Given the description of an element on the screen output the (x, y) to click on. 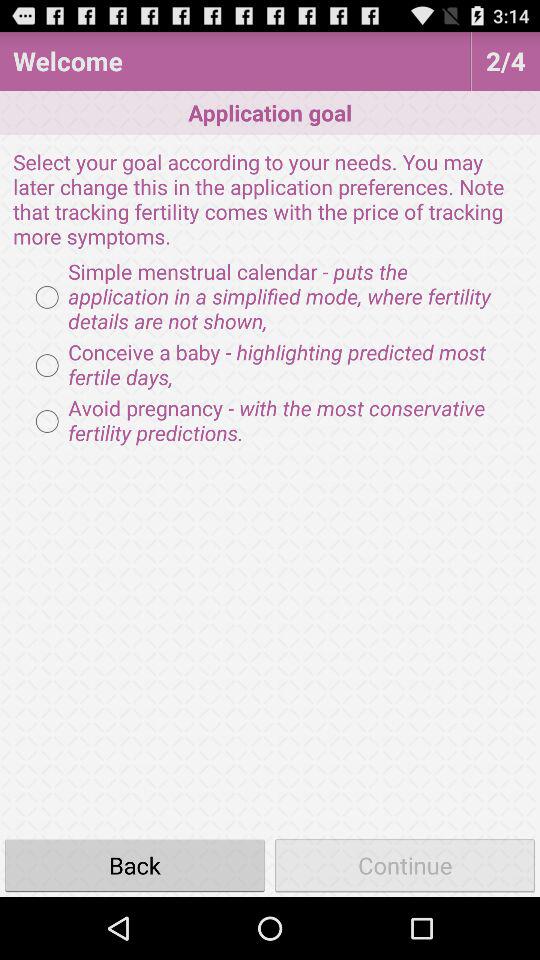
flip until the simple menstrual calendar radio button (269, 297)
